Given the description of an element on the screen output the (x, y) to click on. 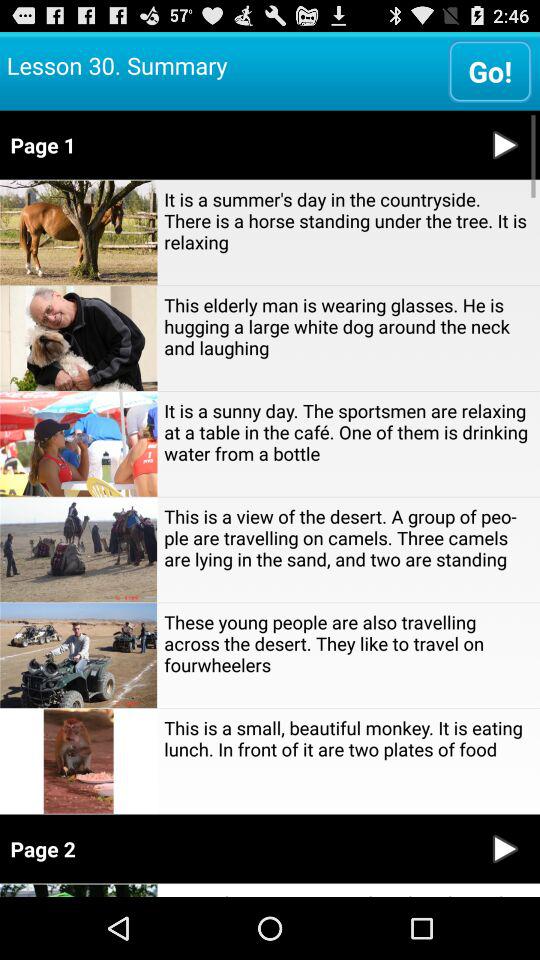
scroll to these young people icon (348, 643)
